Given the description of an element on the screen output the (x, y) to click on. 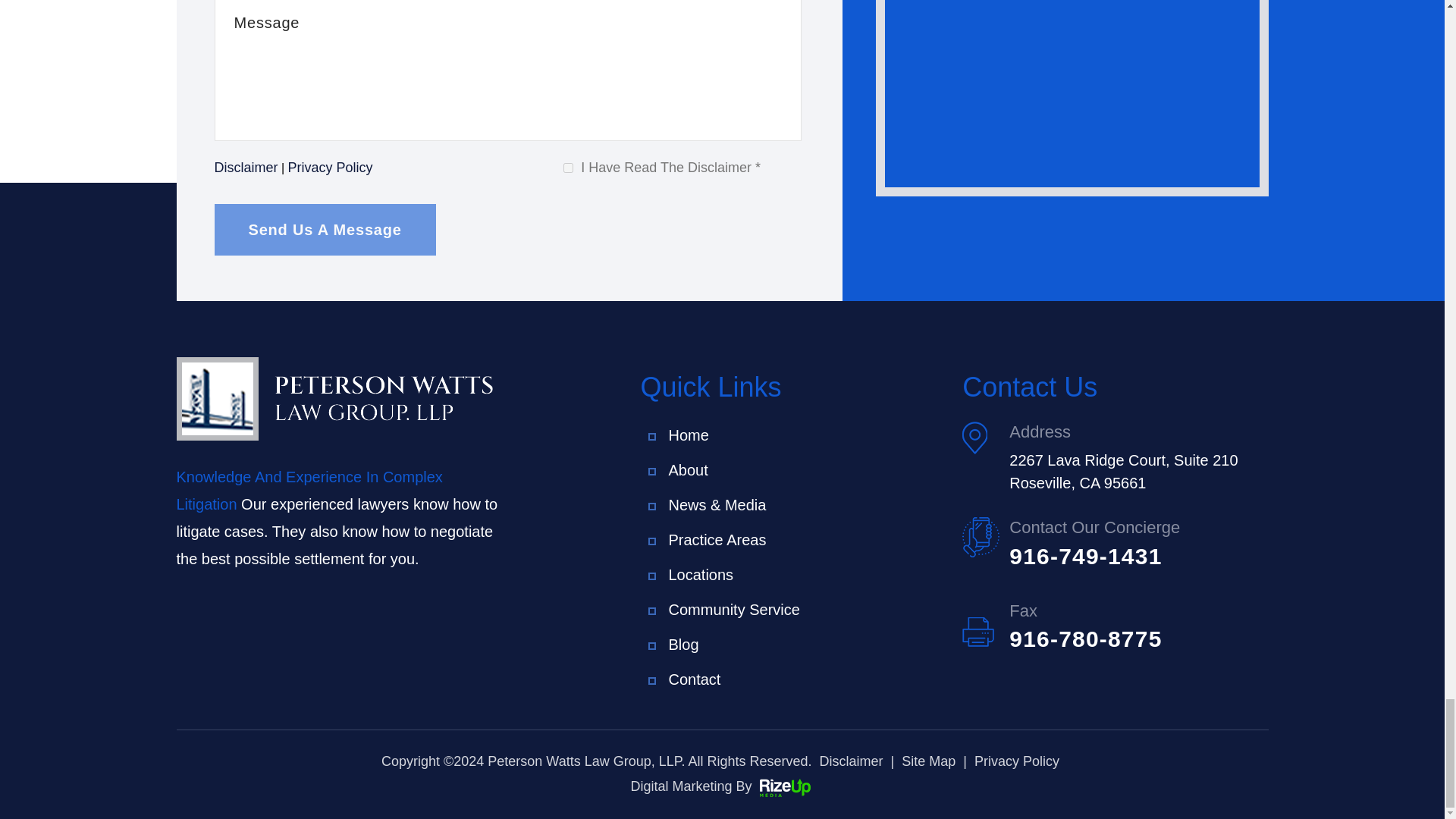
Send Us A Message (324, 229)
